Given the description of an element on the screen output the (x, y) to click on. 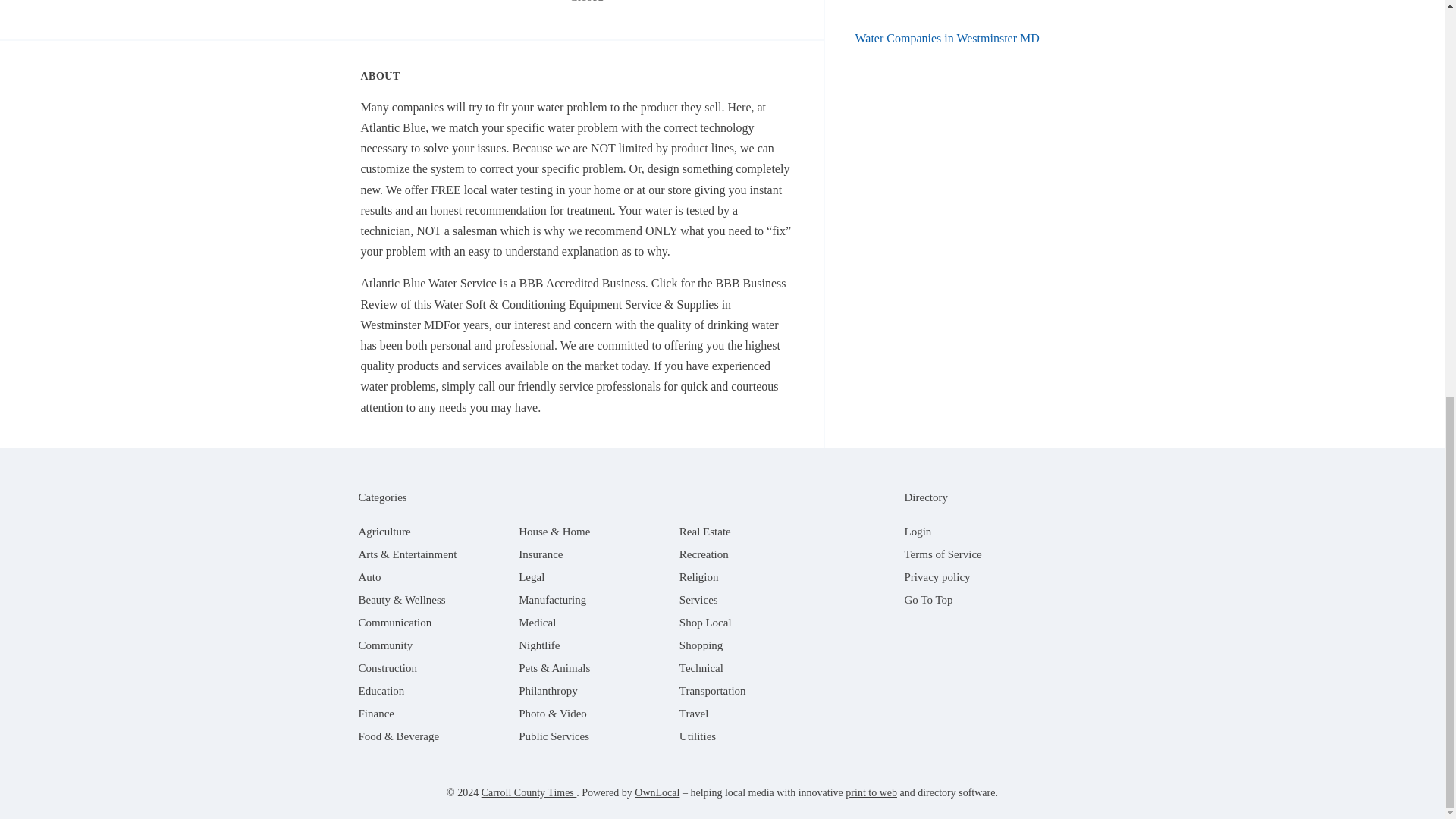
Medical (537, 622)
Manufacturing (552, 599)
Education (381, 690)
Water Companies in Westminster MD (947, 38)
translation missing: en.login (917, 531)
Philanthropy (548, 690)
Construction (387, 667)
Finance (375, 713)
Nightlife (538, 645)
Legal (531, 576)
